Given the description of an element on the screen output the (x, y) to click on. 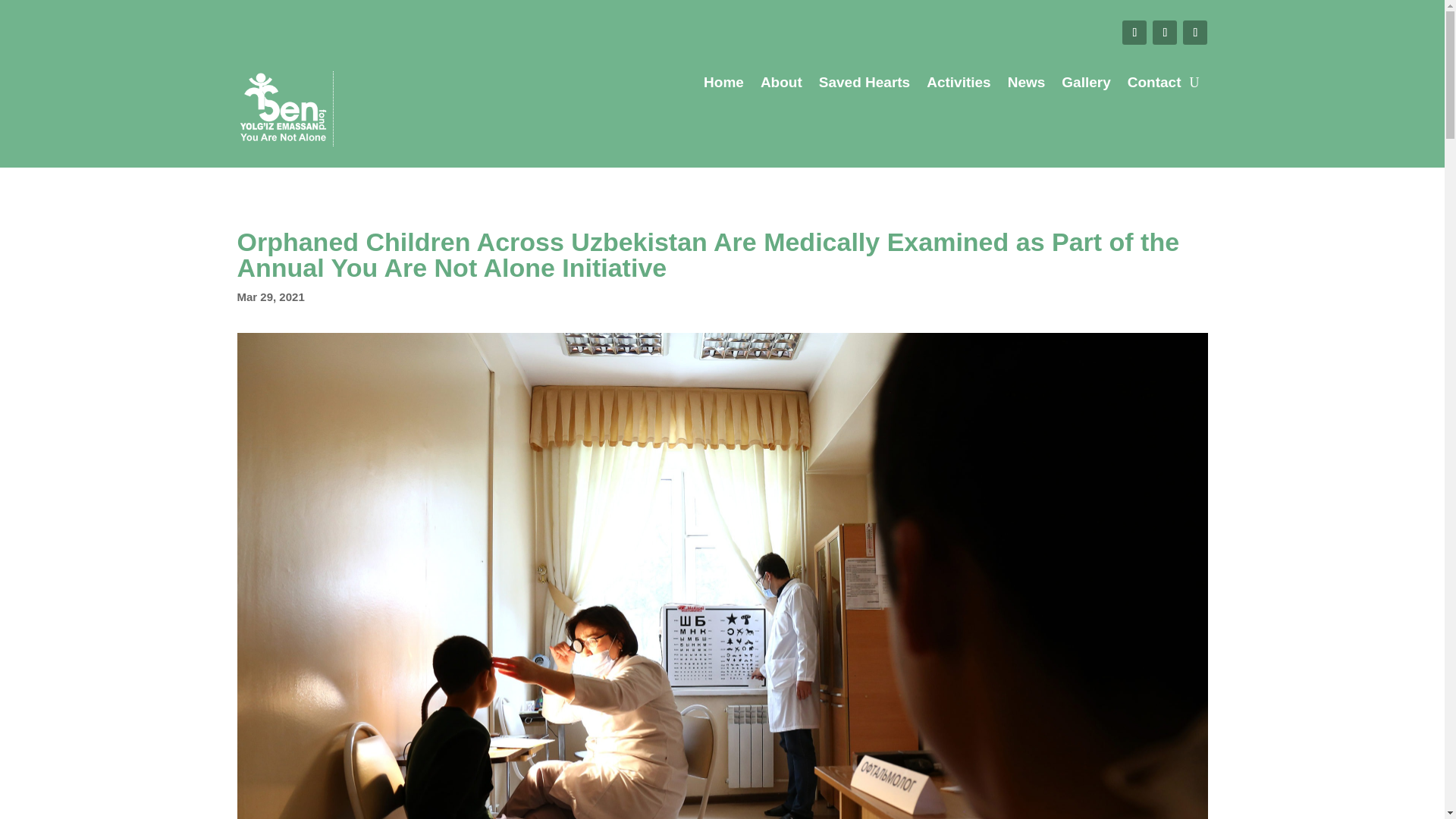
Gallery (1085, 85)
About (781, 85)
Contact (1153, 85)
sen-uzArtboard 1 (282, 108)
Activities (958, 85)
Follow on Facebook (1134, 32)
Follow on Instagram (1194, 32)
Follow on Youtube (1164, 32)
Saved Hearts (864, 85)
Home (723, 85)
News (1026, 85)
